Given the description of an element on the screen output the (x, y) to click on. 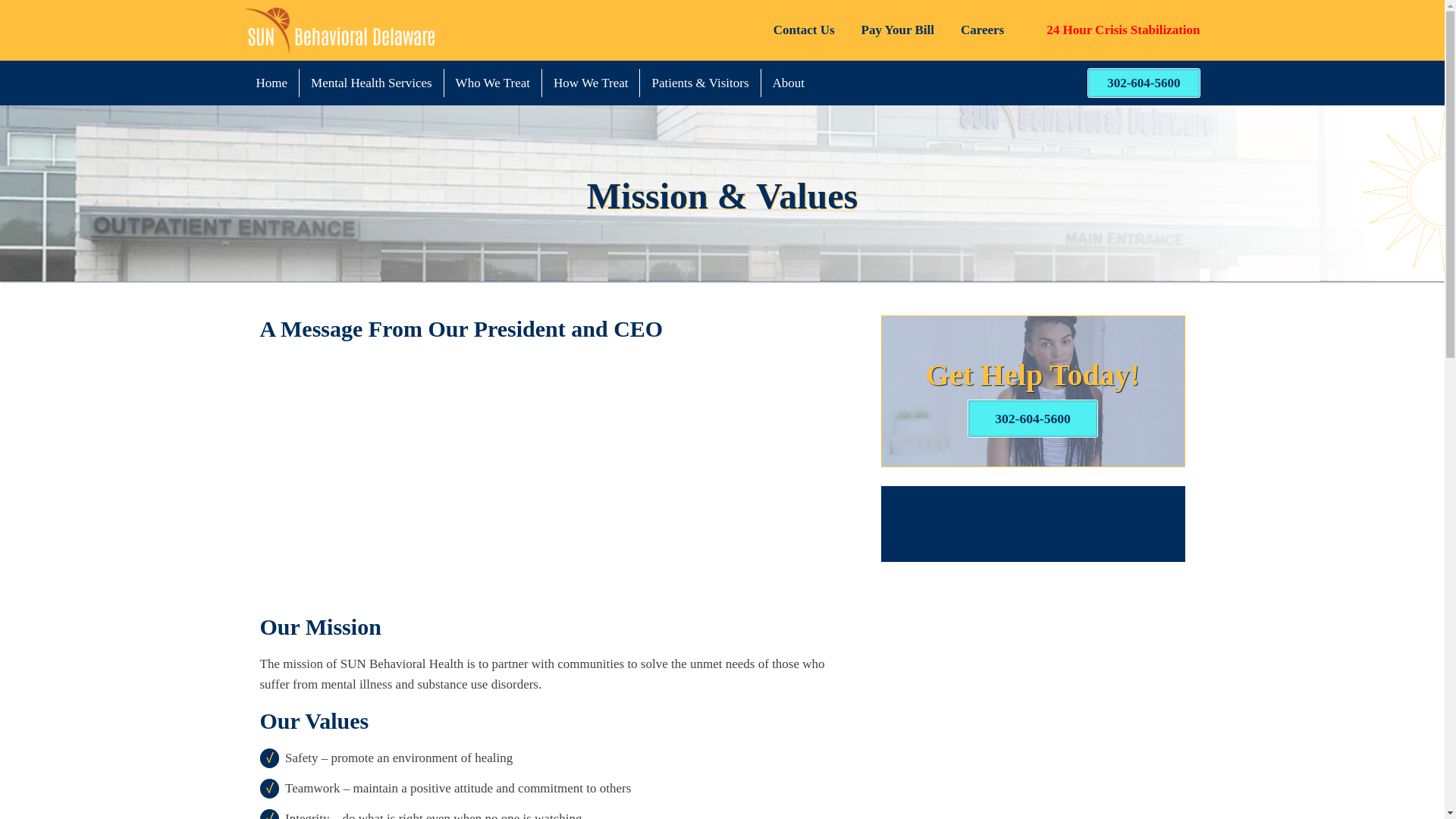
Contact Us (804, 29)
Pay Your Bill (897, 29)
Mental Health Services (371, 82)
24 Hour Crisis Stabilization (1111, 29)
How We Treat (590, 82)
Who We Treat (492, 82)
Home (271, 82)
Careers (982, 29)
